Given the description of an element on the screen output the (x, y) to click on. 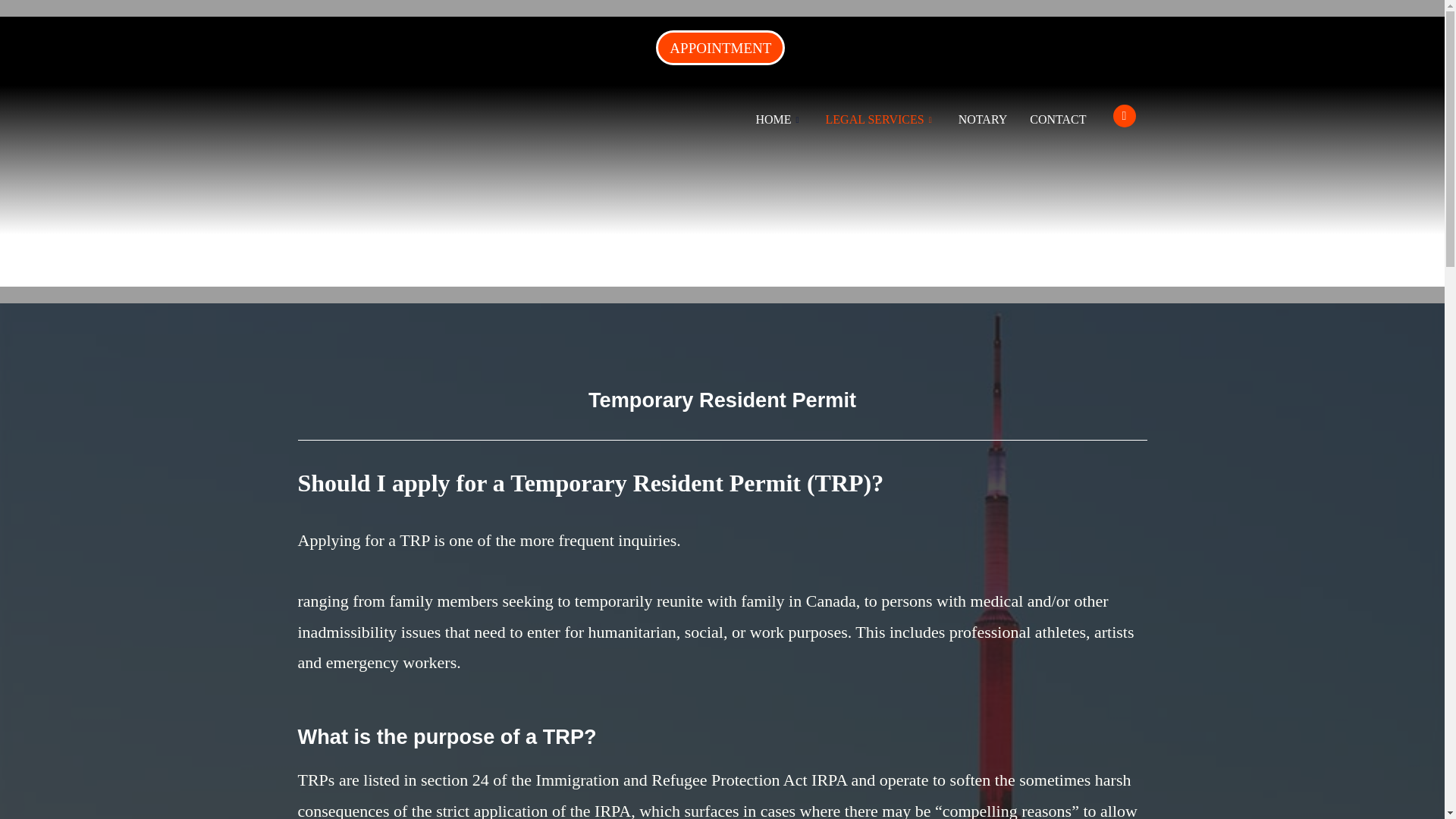
HOME (778, 119)
APPOINTMENT (720, 47)
LEGAL SERVICES (880, 119)
